Given the description of an element on the screen output the (x, y) to click on. 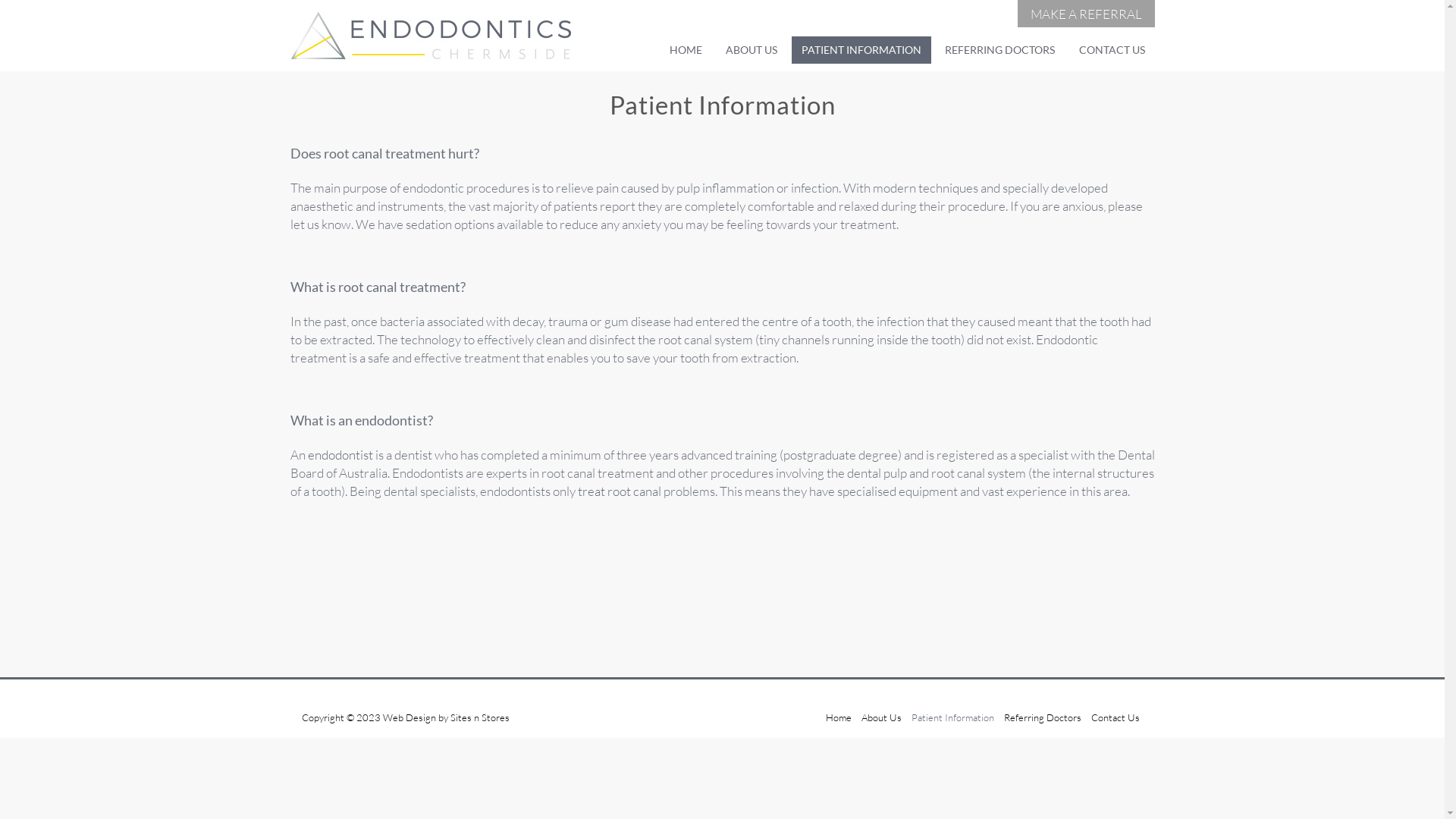
Web Design Element type: text (408, 717)
HOME Element type: text (685, 49)
About Us Element type: text (880, 717)
endodontist Element type: text (340, 454)
CONTACT US Element type: text (1111, 49)
Referring Doctors Element type: text (1041, 717)
Home Element type: text (838, 717)
Patient Information Element type: text (951, 717)
REFERRING DOCTORS Element type: text (999, 49)
PATIENT INFORMATION Element type: text (861, 49)
treat root canal Element type: text (619, 490)
ABOUT US Element type: text (751, 49)
MAKE A REFERRAL Element type: text (1085, 13)
Contact Us Element type: text (1115, 717)
